Given the description of an element on the screen output the (x, y) to click on. 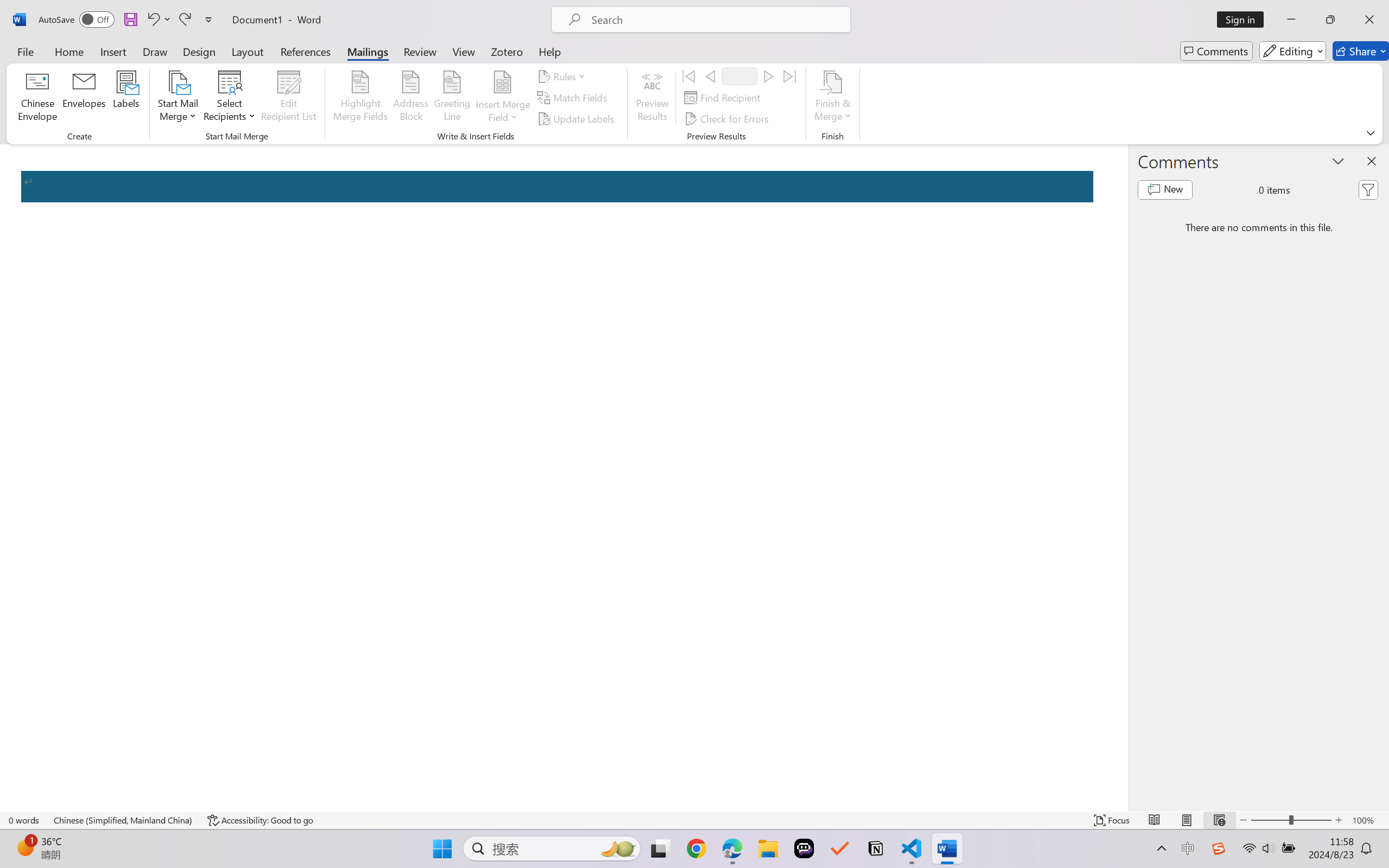
Search engine (67, 223)
Settings - Addresses and more (1246, 12)
Sign in - Google Accounts (84, 12)
YouTube (689, 12)
You and Google (67, 103)
Create your Google Account (302, 12)
Accessibility (67, 353)
